Given the description of an element on the screen output the (x, y) to click on. 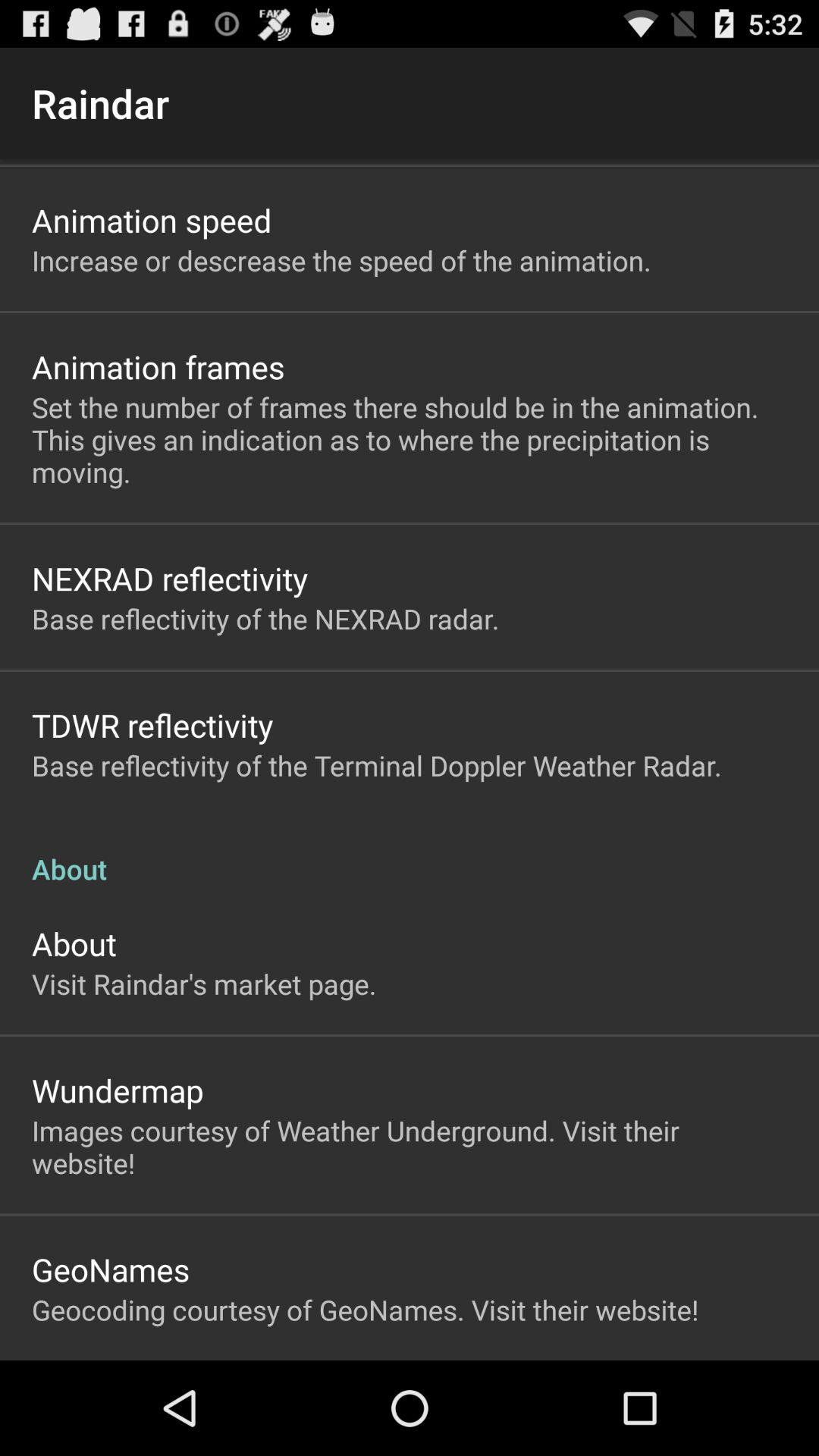
tap wundermap item (117, 1089)
